Given the description of an element on the screen output the (x, y) to click on. 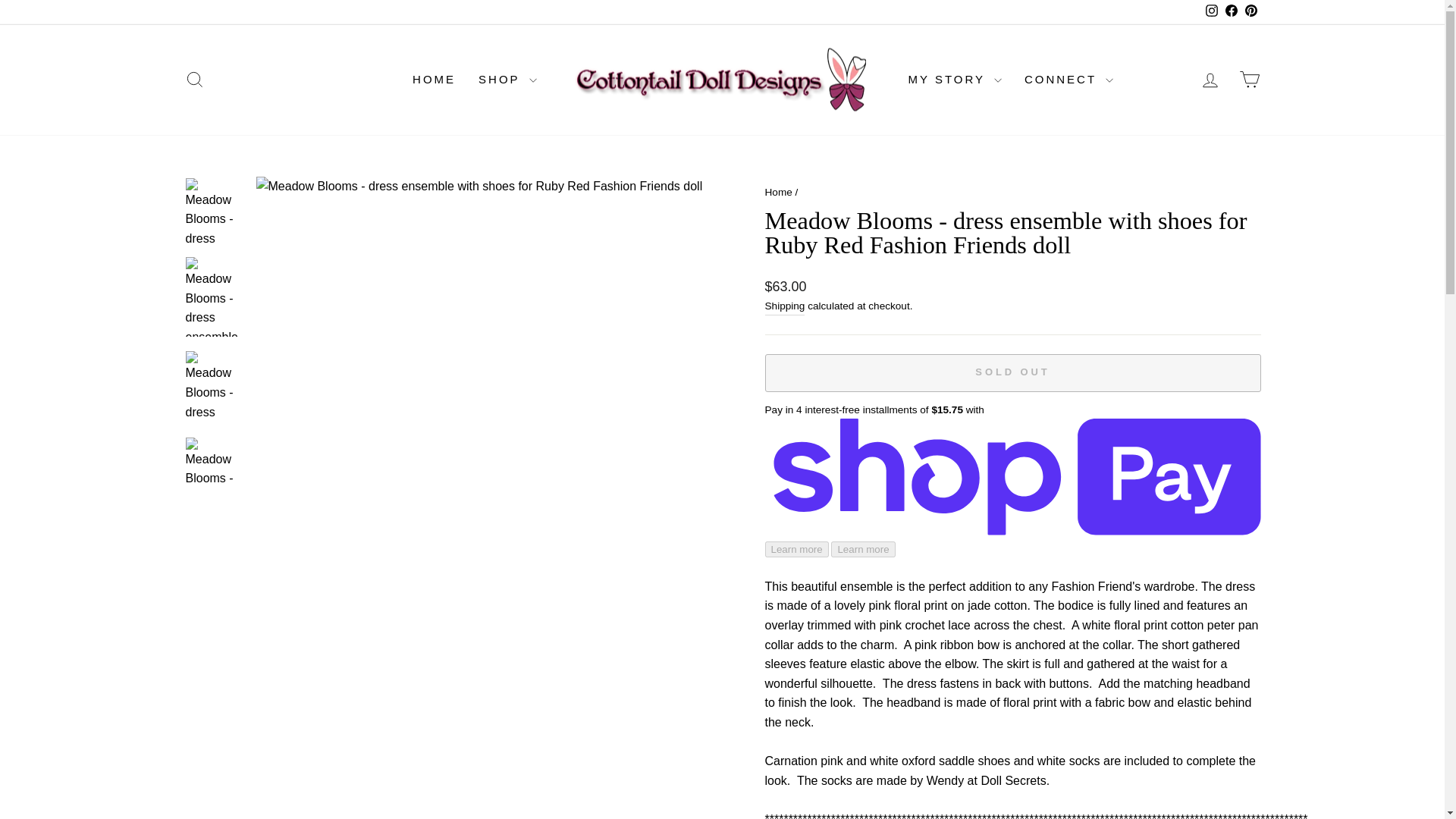
Back to the frontpage (778, 192)
ICON-SEARCH (194, 79)
ACCOUNT (1210, 79)
instagram (1211, 10)
